Given the description of an element on the screen output the (x, y) to click on. 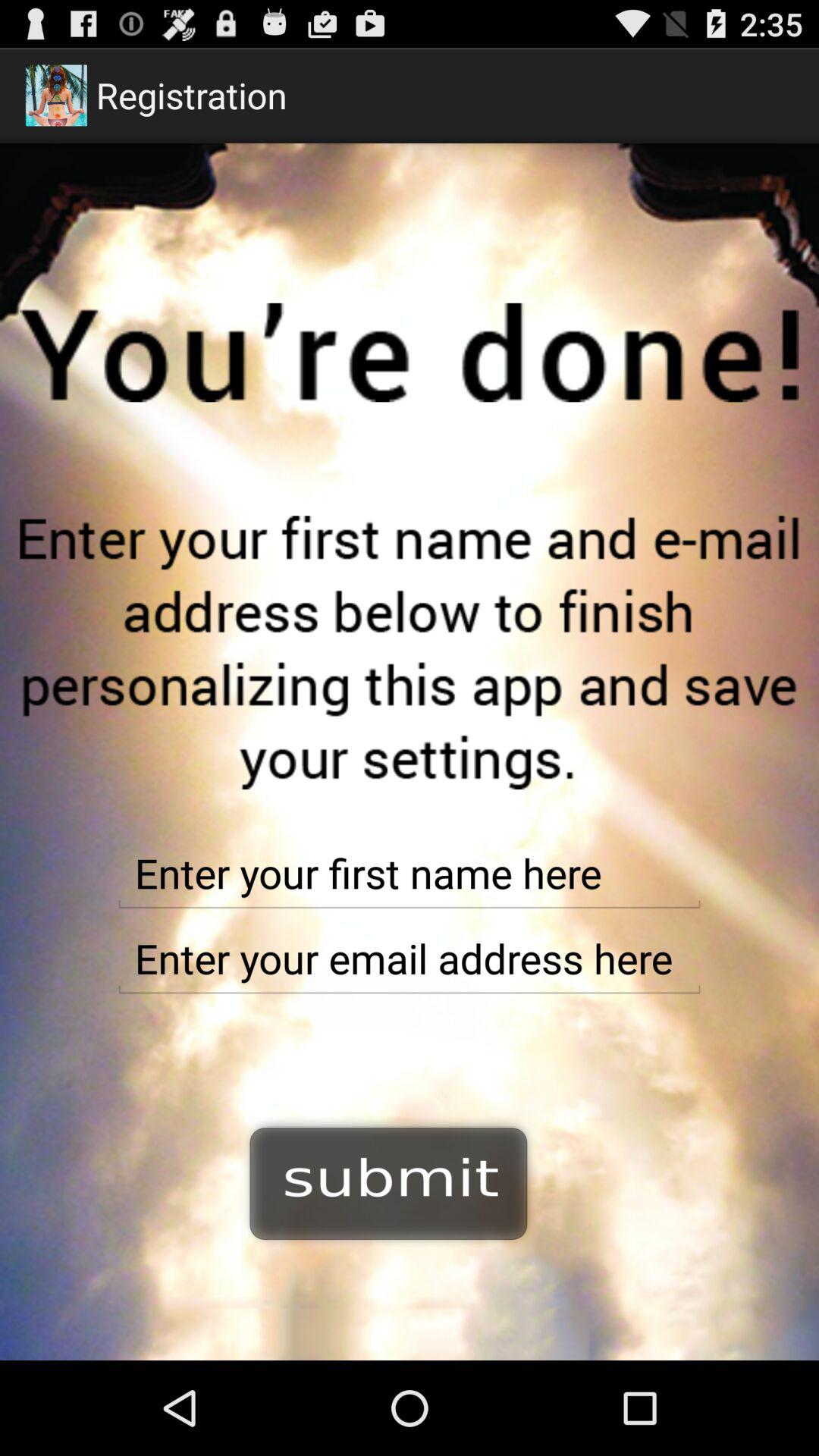
enter first name (409, 873)
